Given the description of an element on the screen output the (x, y) to click on. 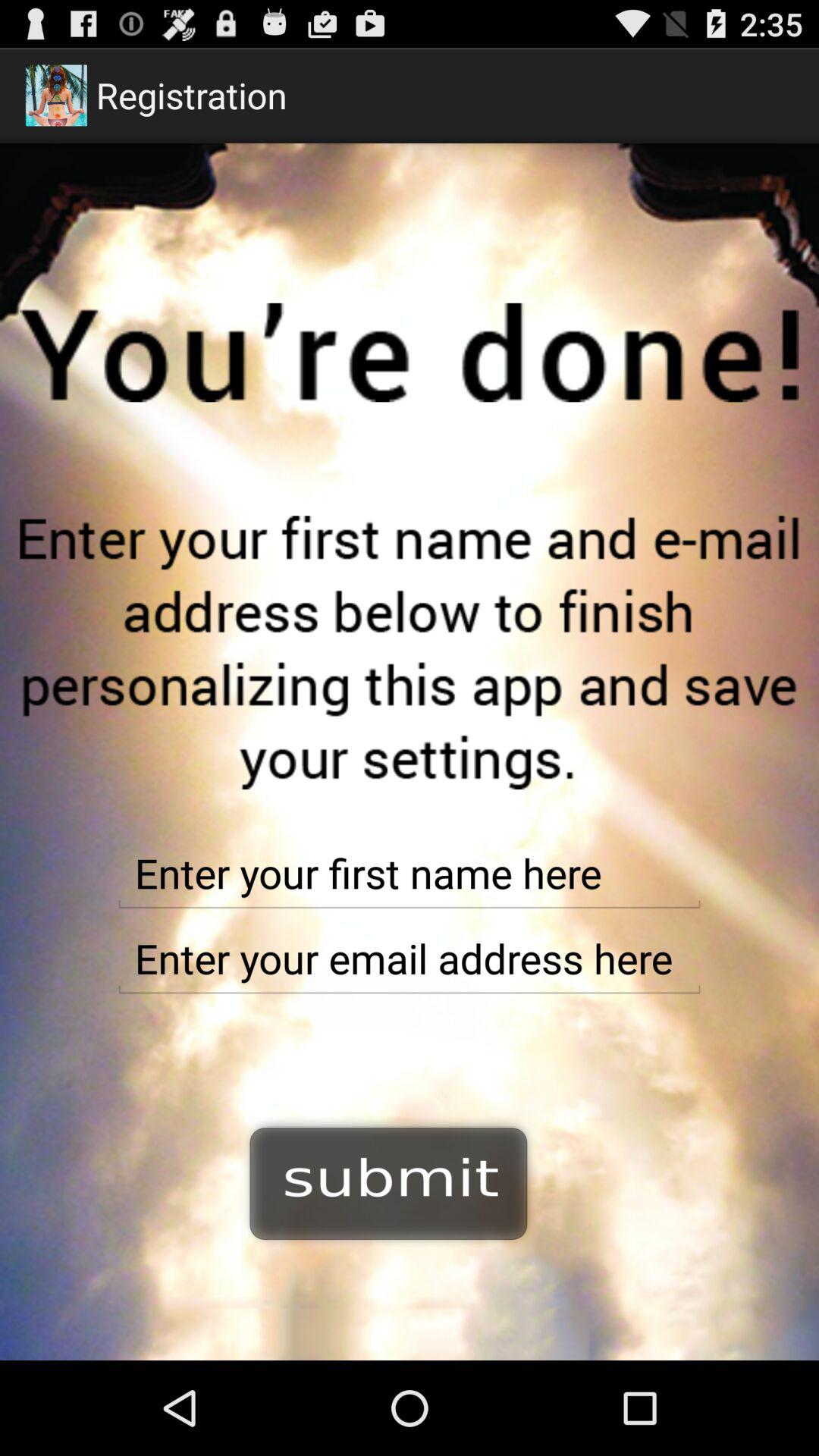
enter first name (409, 873)
